Given the description of an element on the screen output the (x, y) to click on. 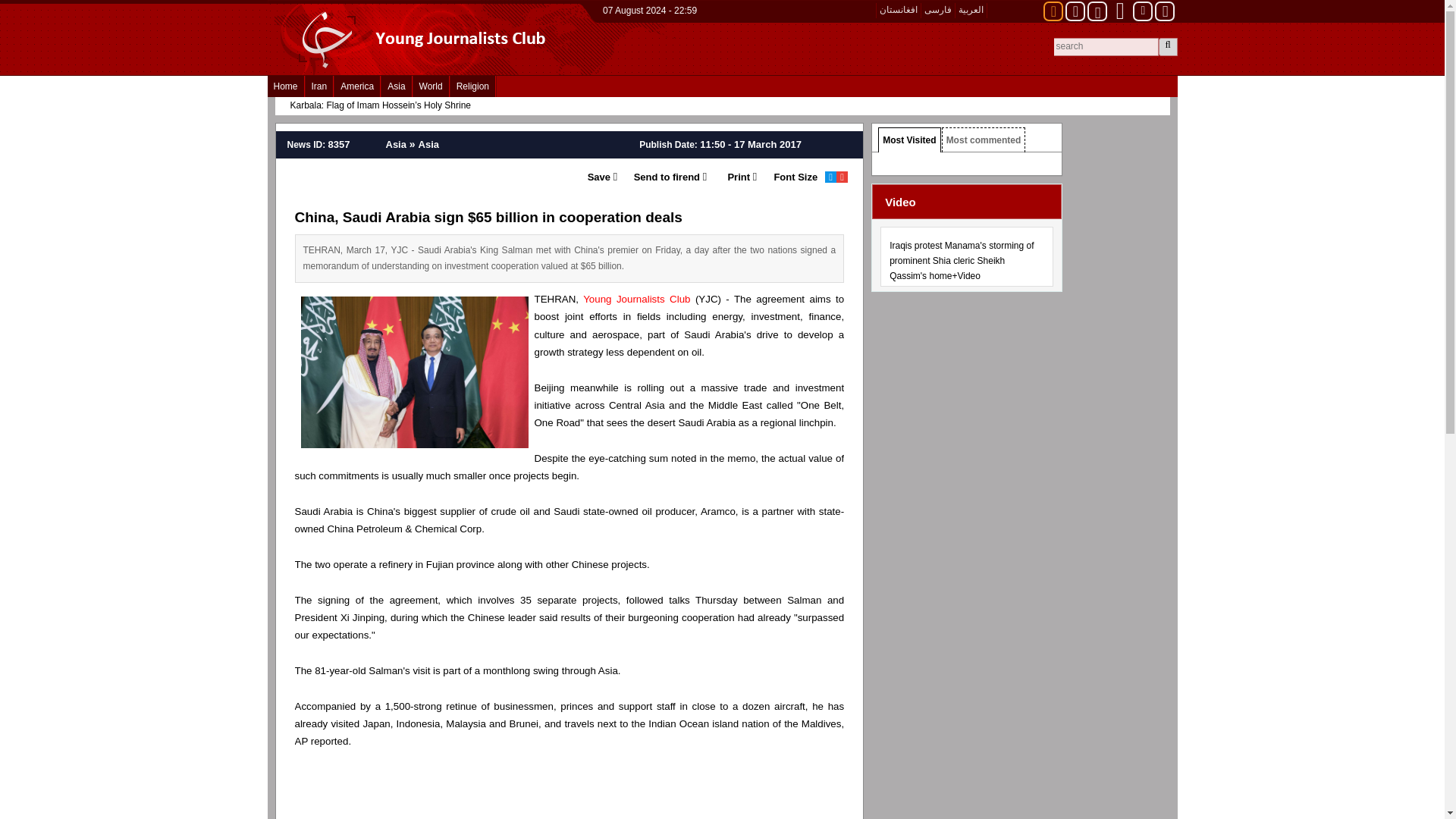
America (357, 86)
Asia (395, 86)
Home (284, 86)
Religion (472, 86)
Send to friends (661, 177)
Save (598, 177)
Iran (319, 86)
World (430, 86)
Print (731, 177)
